Given the description of an element on the screen output the (x, y) to click on. 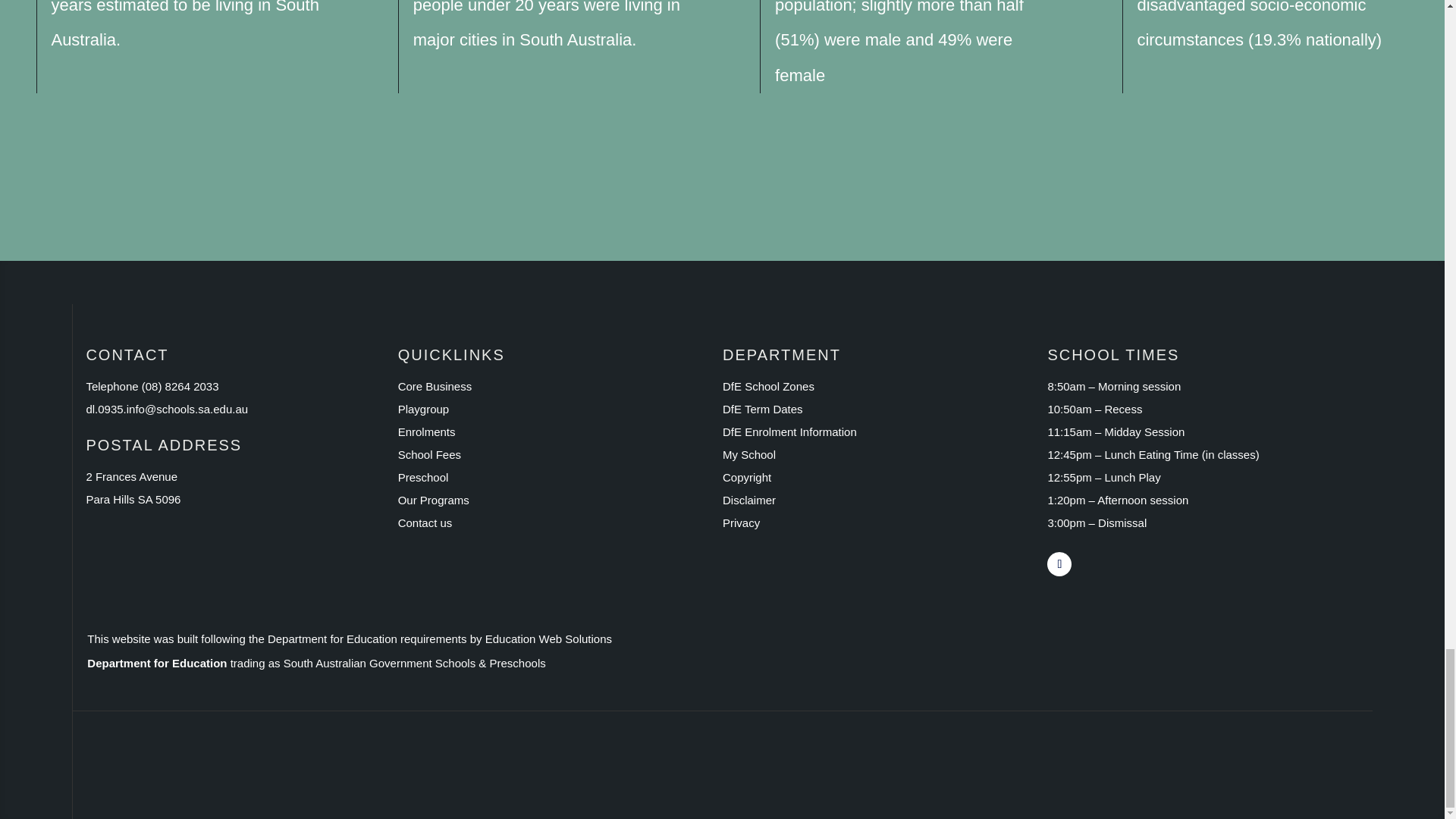
Education Web Solutions (547, 638)
sagov-white (382, 764)
Go to the Department for Education Website (789, 431)
Department for Education  (157, 662)
Go to the Department for Education Website (762, 408)
Privacy Information (741, 522)
ews-210px (844, 764)
Go to the My School website (749, 454)
Copyright Information (746, 477)
Go to the Department for Education Website (767, 386)
Follow on Facebook (1058, 564)
cc-creative-commons-rev (614, 764)
Disclaimer (749, 499)
de-white (151, 764)
